Given the description of an element on the screen output the (x, y) to click on. 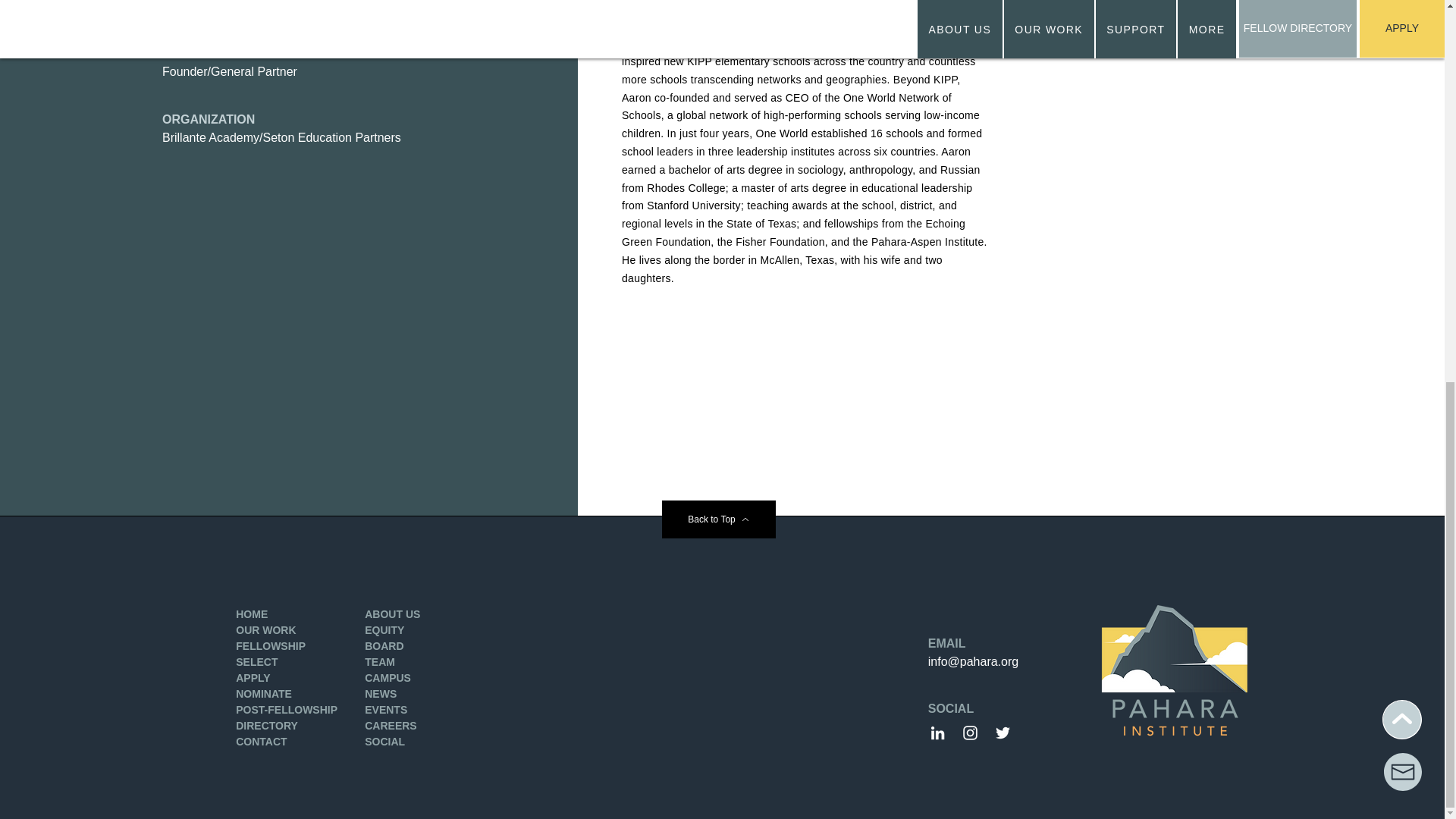
NEWS (380, 693)
NOMINATE (263, 693)
Back to Top (717, 519)
CONTACT (260, 741)
CAMPUS (387, 677)
BOARD (384, 645)
TEAM (379, 662)
HOME (251, 613)
EQUITY (384, 630)
FELLOWSHIP (270, 645)
